Given the description of an element on the screen output the (x, y) to click on. 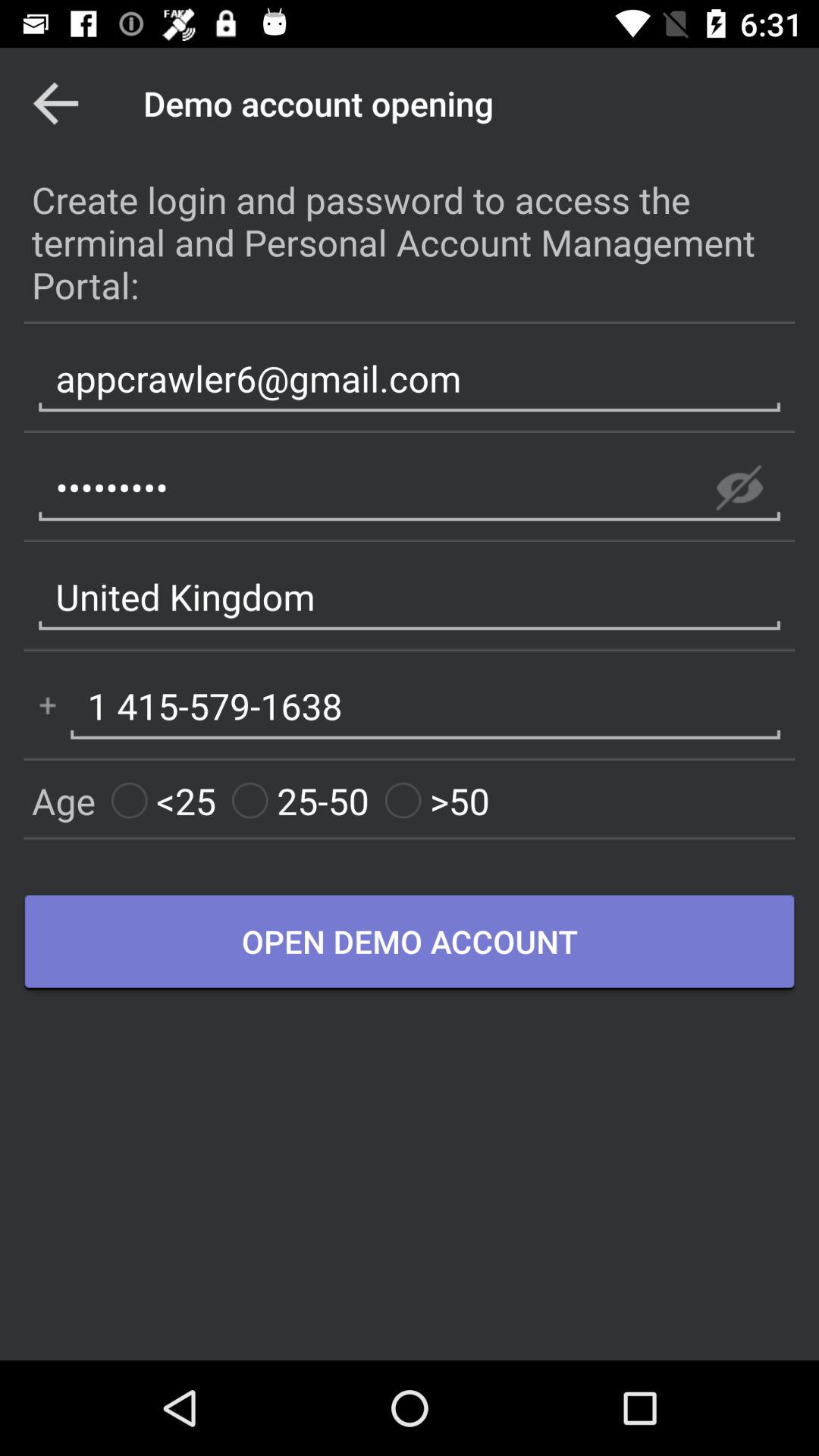
open icon at the top left corner (55, 103)
